Given the description of an element on the screen output the (x, y) to click on. 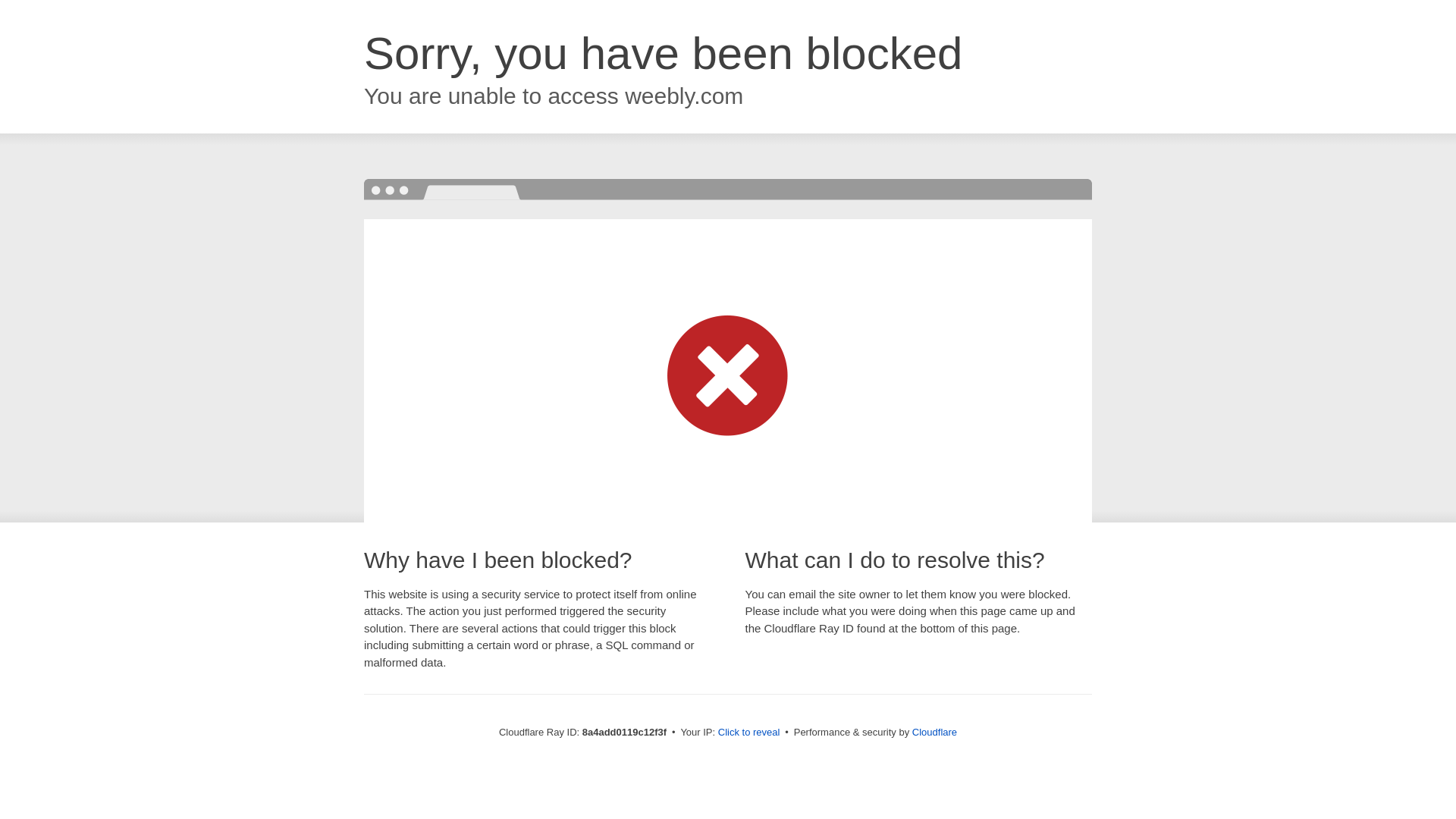
Click to reveal (748, 732)
Cloudflare (934, 731)
